Given the description of an element on the screen output the (x, y) to click on. 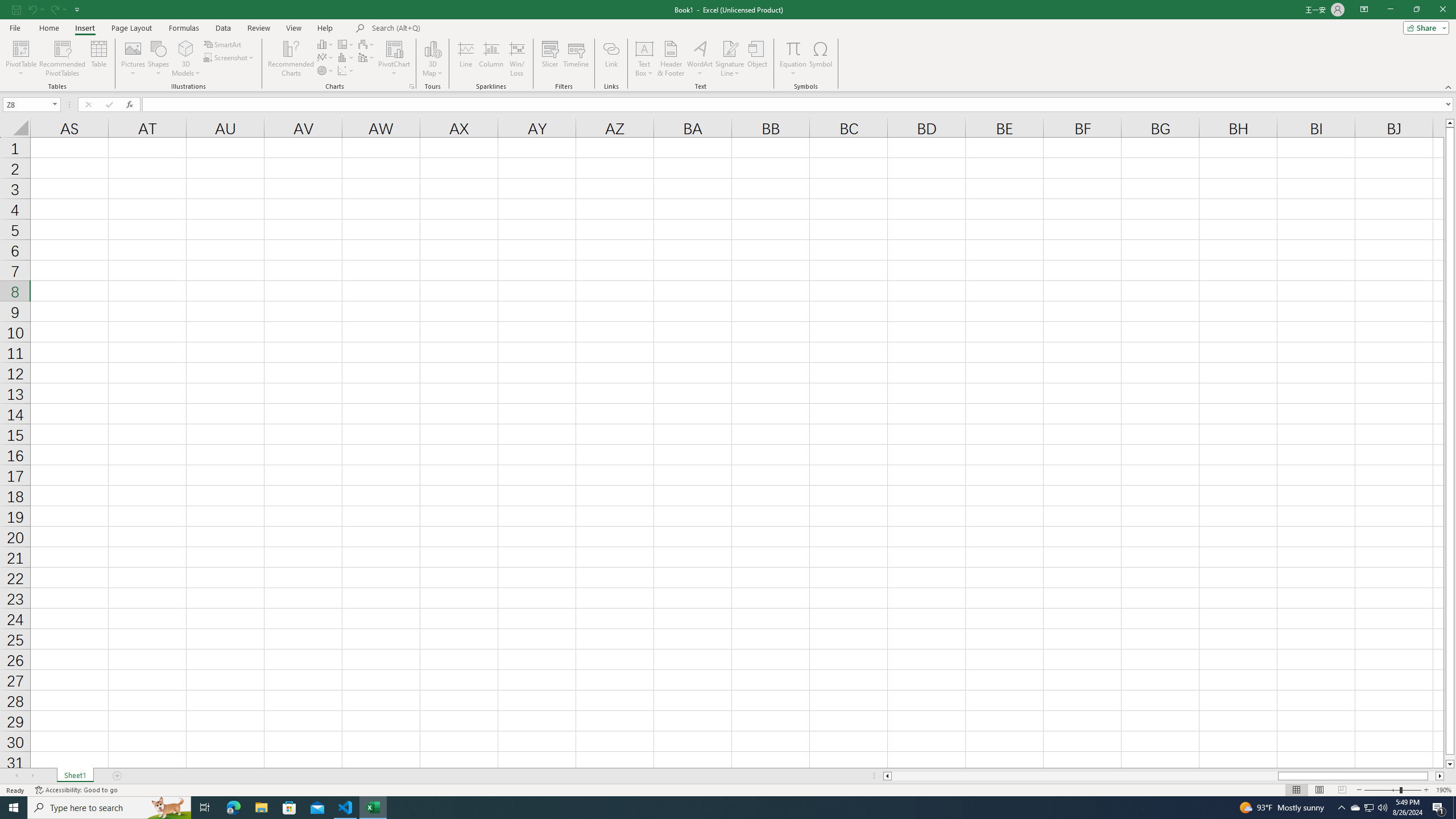
Class: NetUIScrollBar (1163, 775)
3D Map (432, 58)
Slicer... (550, 58)
Pictures (133, 58)
Collapse the Ribbon (1448, 86)
Shapes (158, 58)
Class: MsoCommandBar (728, 45)
Header & Footer... (670, 58)
Equation (793, 48)
3D Map (432, 48)
